Given the description of an element on the screen output the (x, y) to click on. 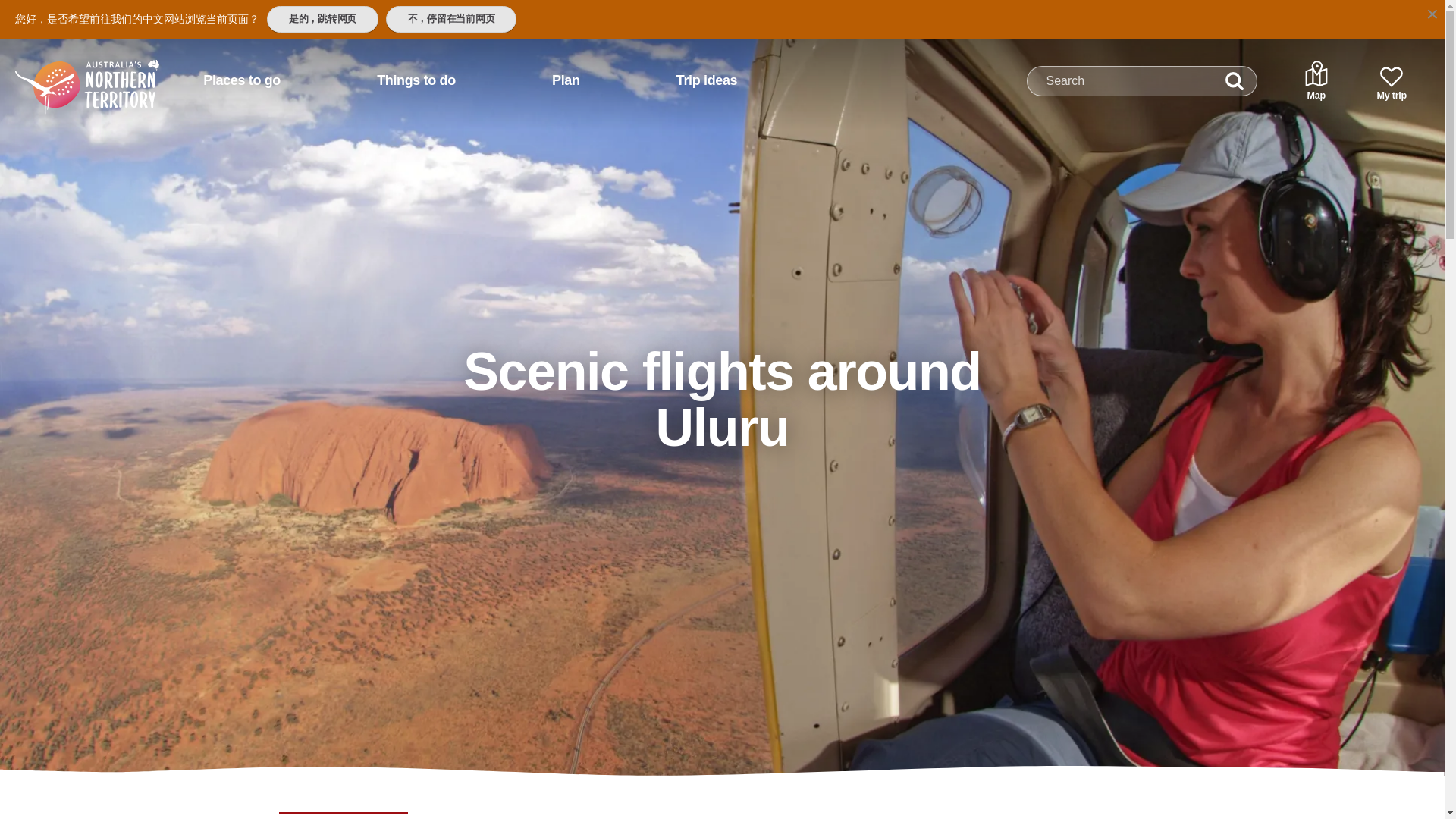
Home (67, 73)
Things to do (416, 80)
Places to go (241, 80)
Search (1234, 81)
